Given the description of an element on the screen output the (x, y) to click on. 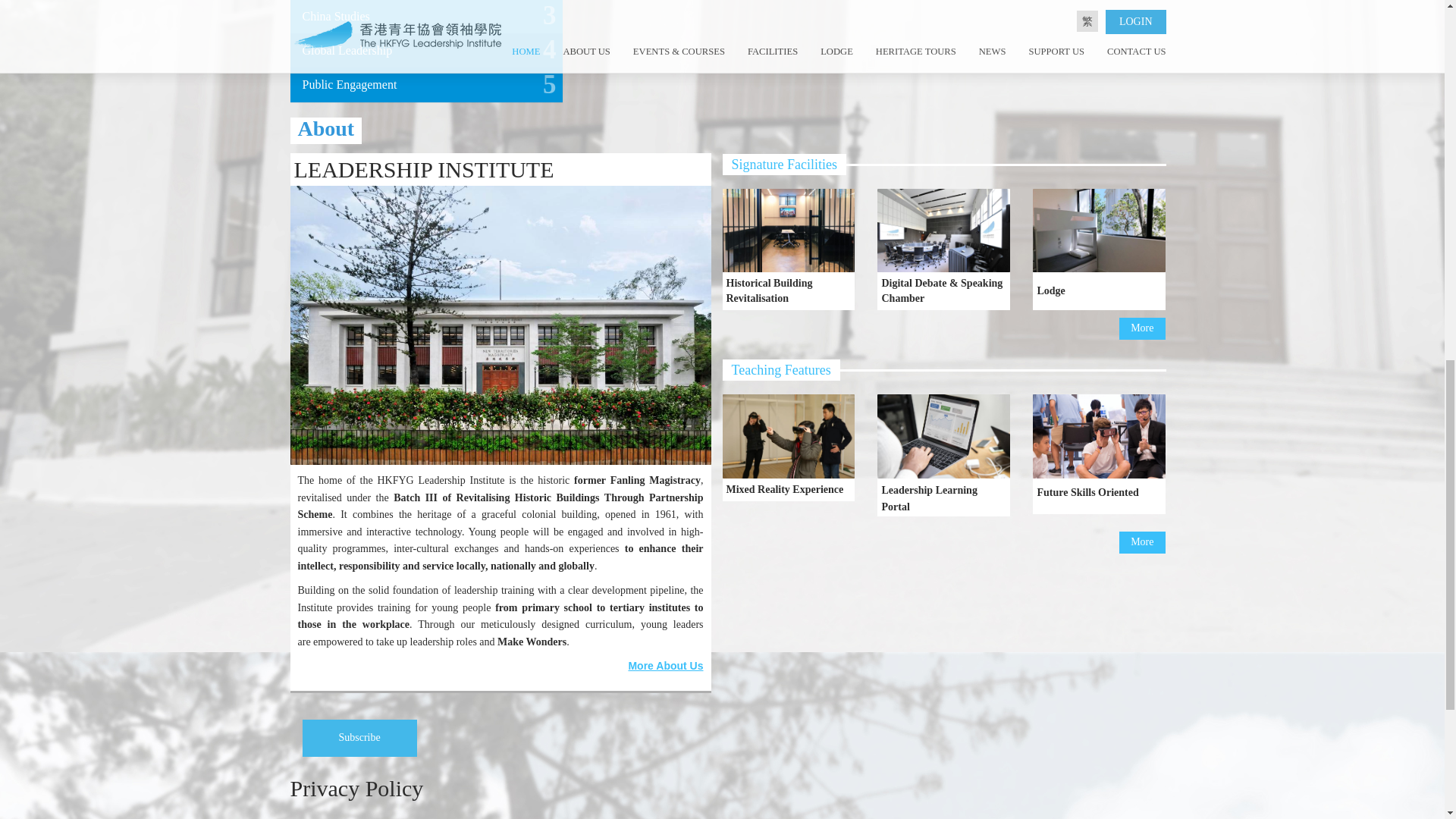
China Studies (335, 15)
Global Leadership (346, 50)
Public Engagement (348, 83)
